Given the description of an element on the screen output the (x, y) to click on. 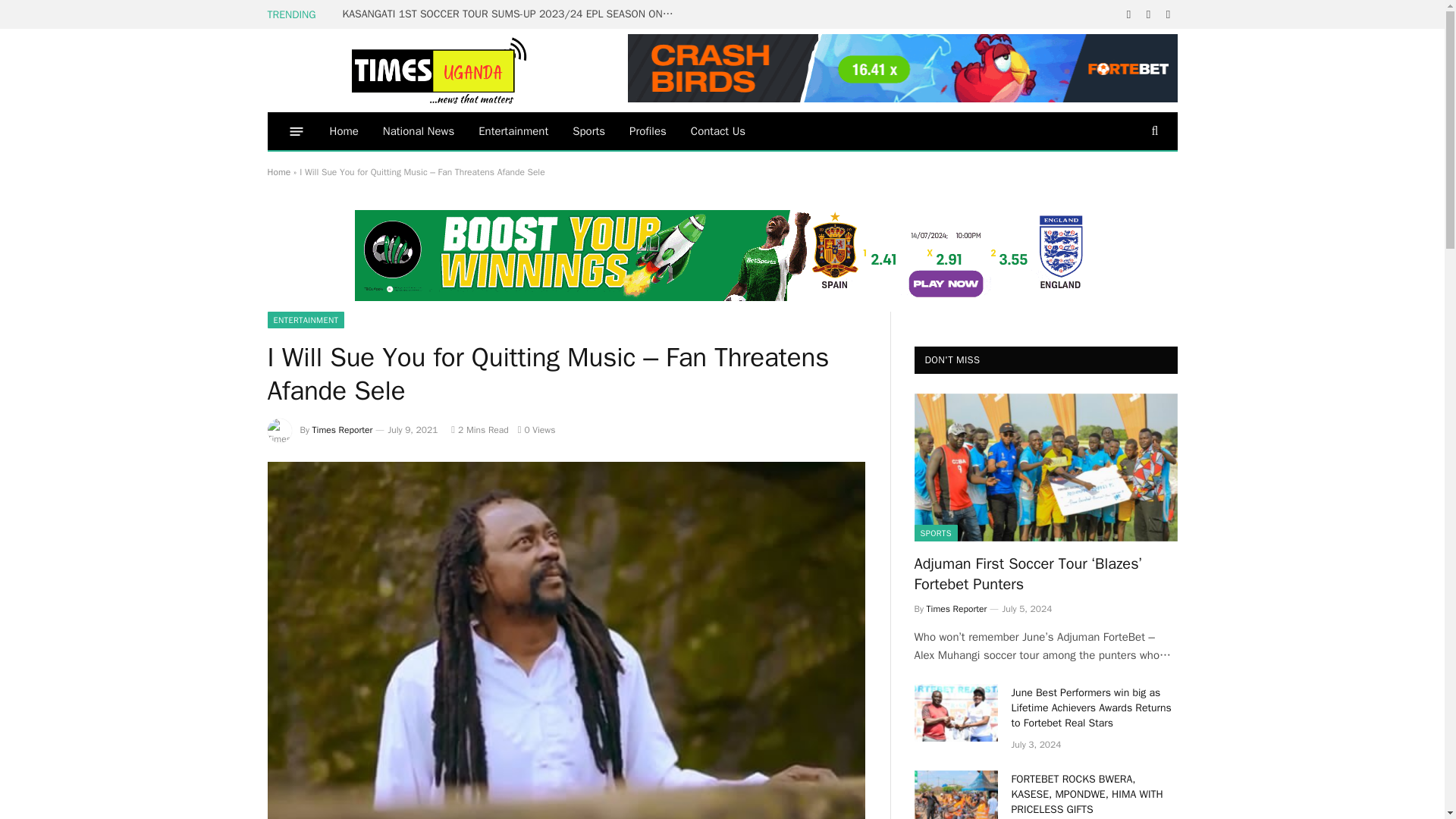
Sports (588, 130)
Times Uganda (441, 70)
Entertainment (512, 130)
Home (343, 130)
Home (277, 172)
Contact Us (717, 130)
National News (418, 130)
Posts by Times Reporter (342, 429)
0 Article Views (537, 429)
Profiles (647, 130)
